Given the description of an element on the screen output the (x, y) to click on. 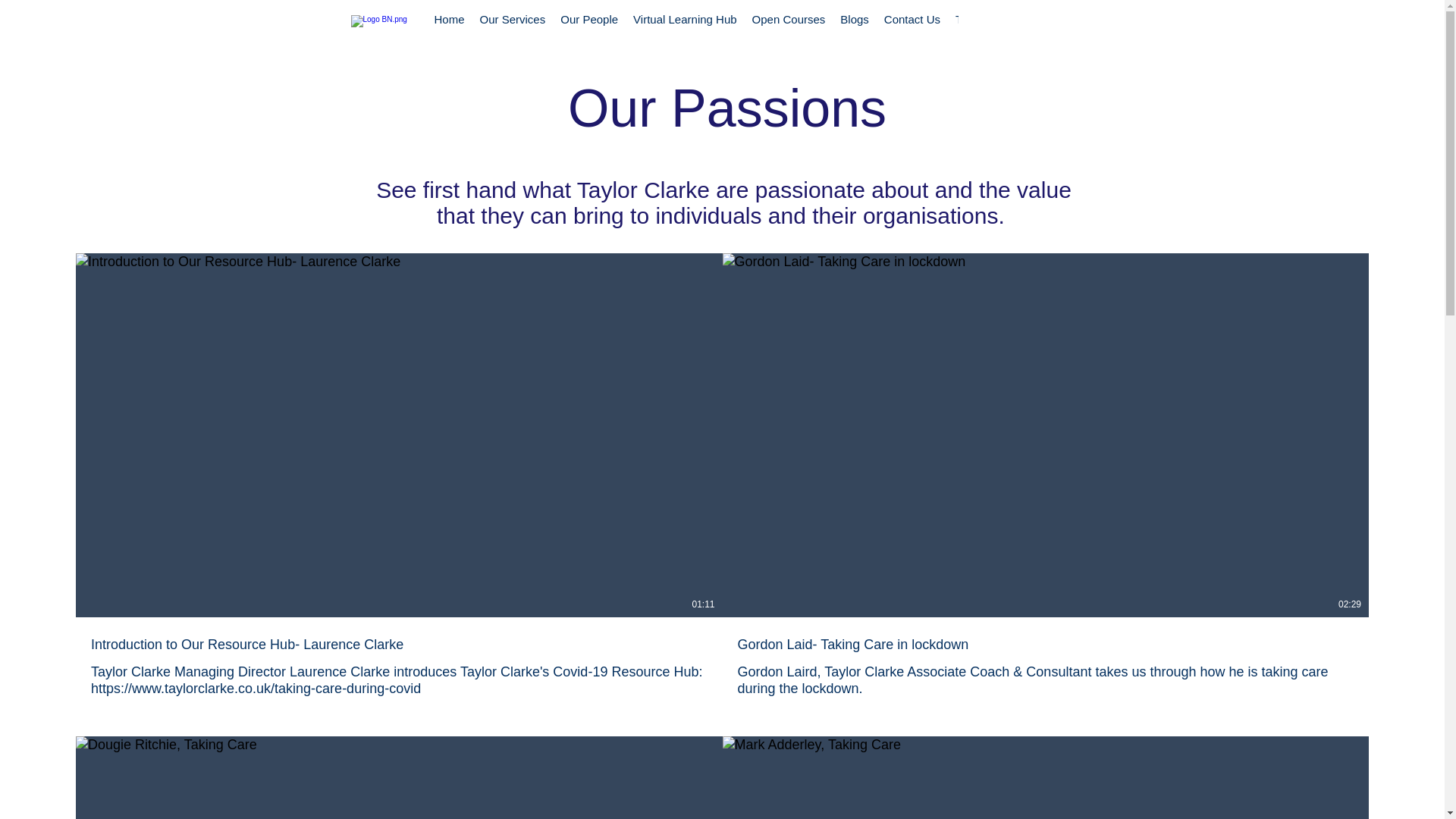
Introduction to Our Resource Hub- Laurence Clarke (398, 645)
Our Services (512, 30)
Open Courses (788, 30)
Contact Us (911, 30)
Virtual Learning Hub (685, 30)
Gordon Laid- Taking Care in lockdown (1045, 645)
Our People (589, 30)
Blogs (854, 30)
Team 1 (973, 30)
Home (448, 30)
